Given the description of an element on the screen output the (x, y) to click on. 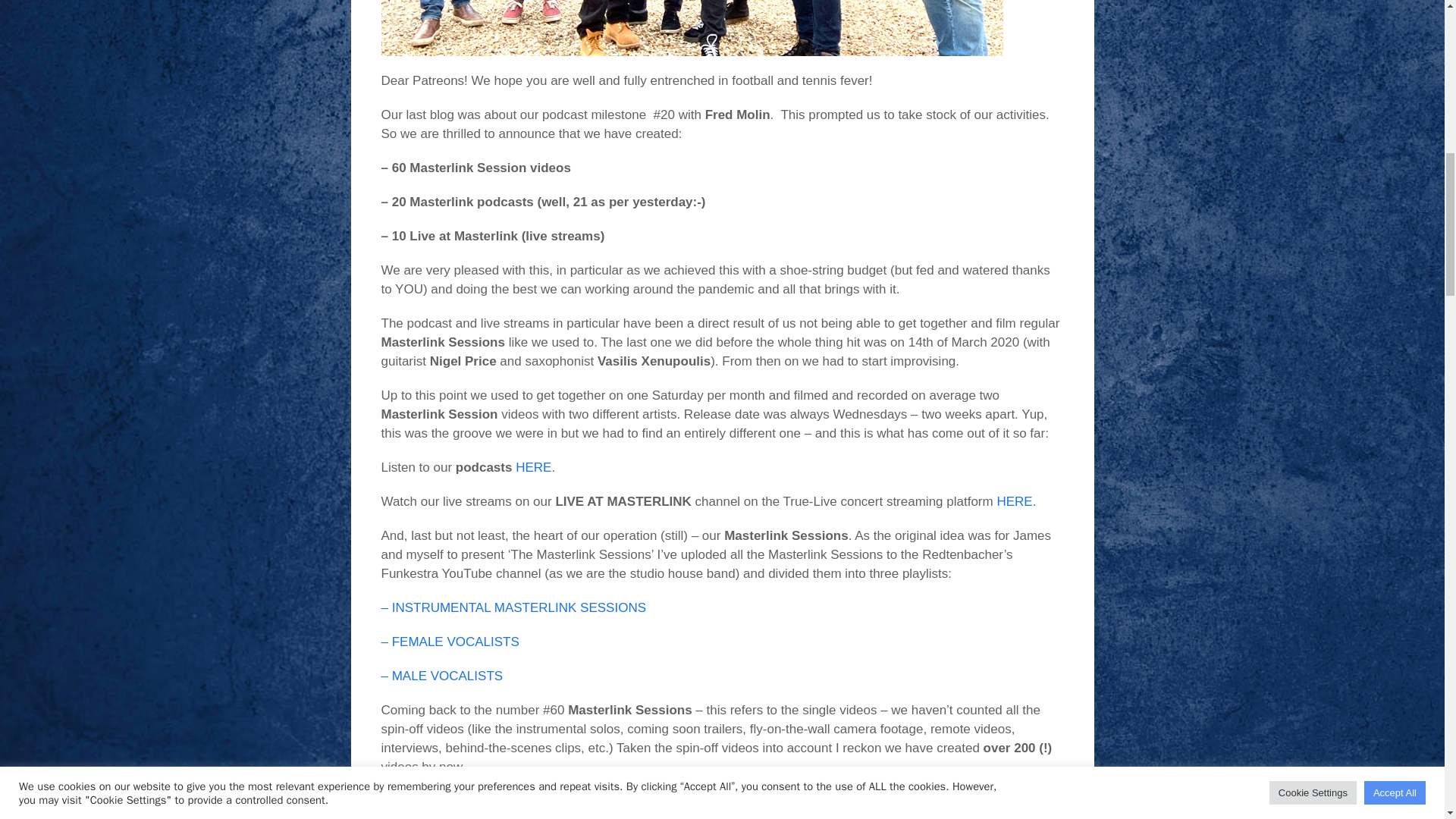
HERE. (534, 467)
HERE. (1015, 501)
